Given the description of an element on the screen output the (x, y) to click on. 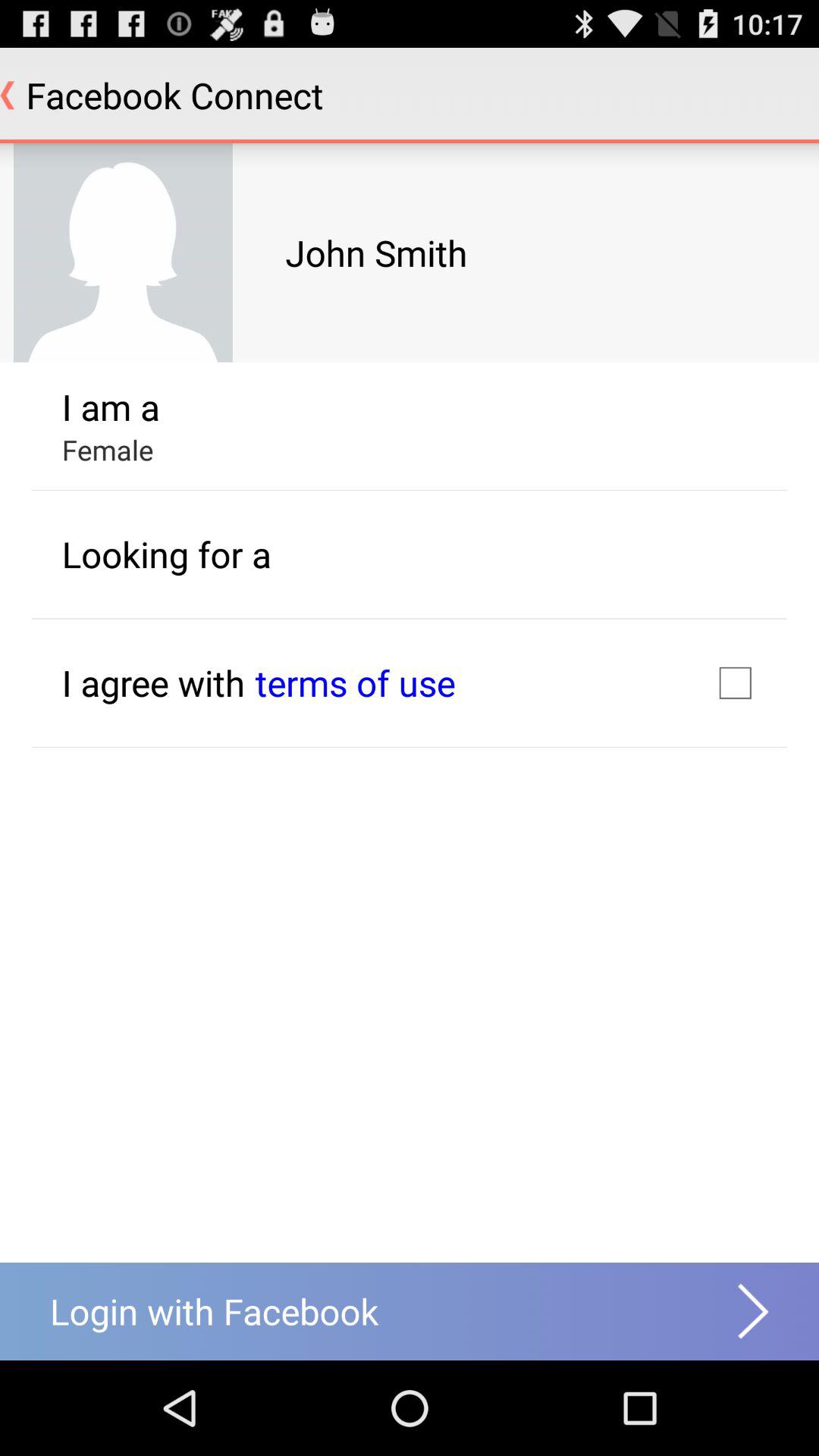
select the text i agree with which is below the looking for a (153, 682)
select the text which is in blue in color (355, 682)
